Given the description of an element on the screen output the (x, y) to click on. 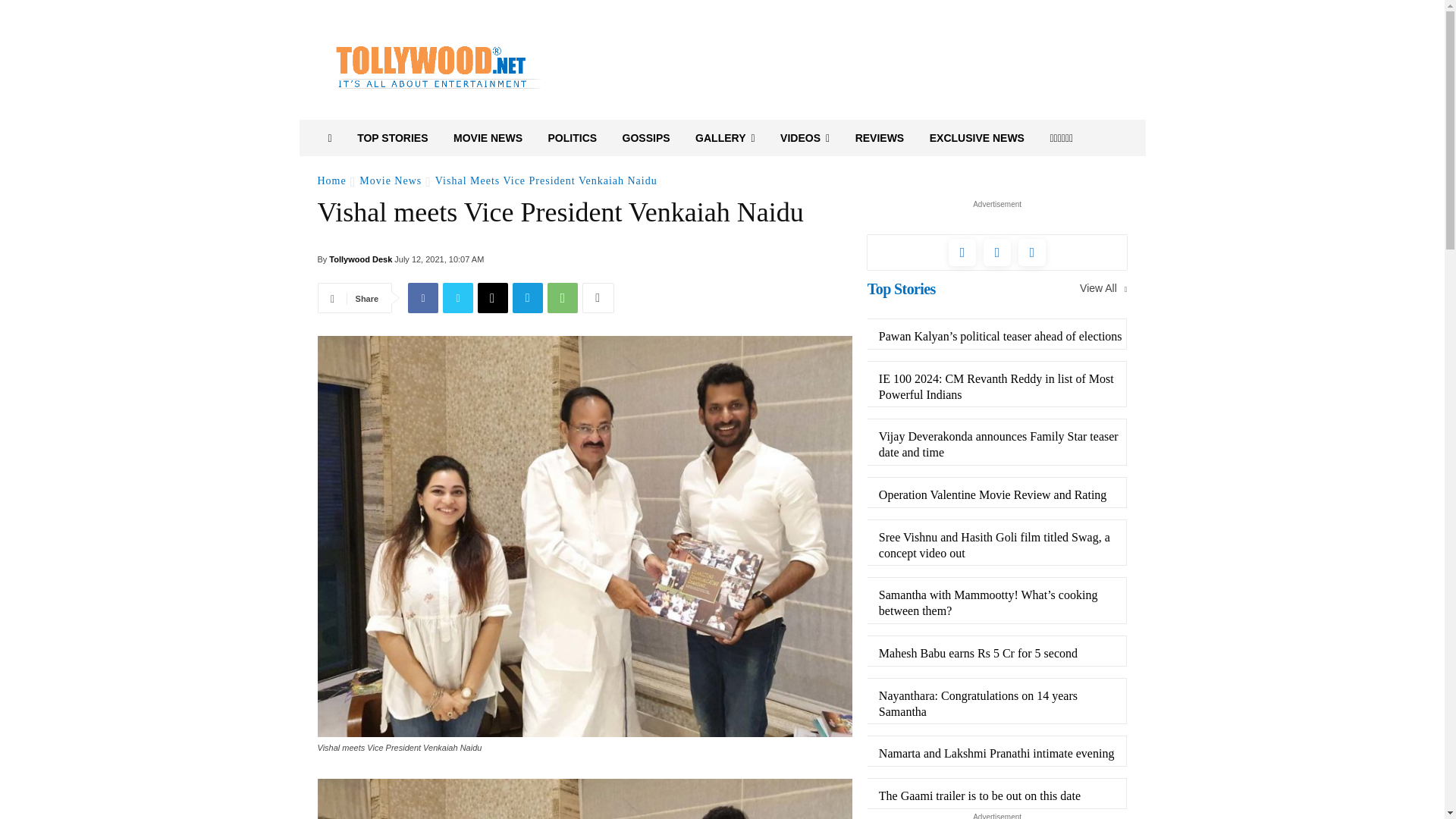
View all posts in Movie News (390, 180)
More (598, 297)
Copy URL (492, 297)
Facebook (422, 297)
Telegram (527, 297)
Twitter (457, 297)
WhatsApp (562, 297)
